Given the description of an element on the screen output the (x, y) to click on. 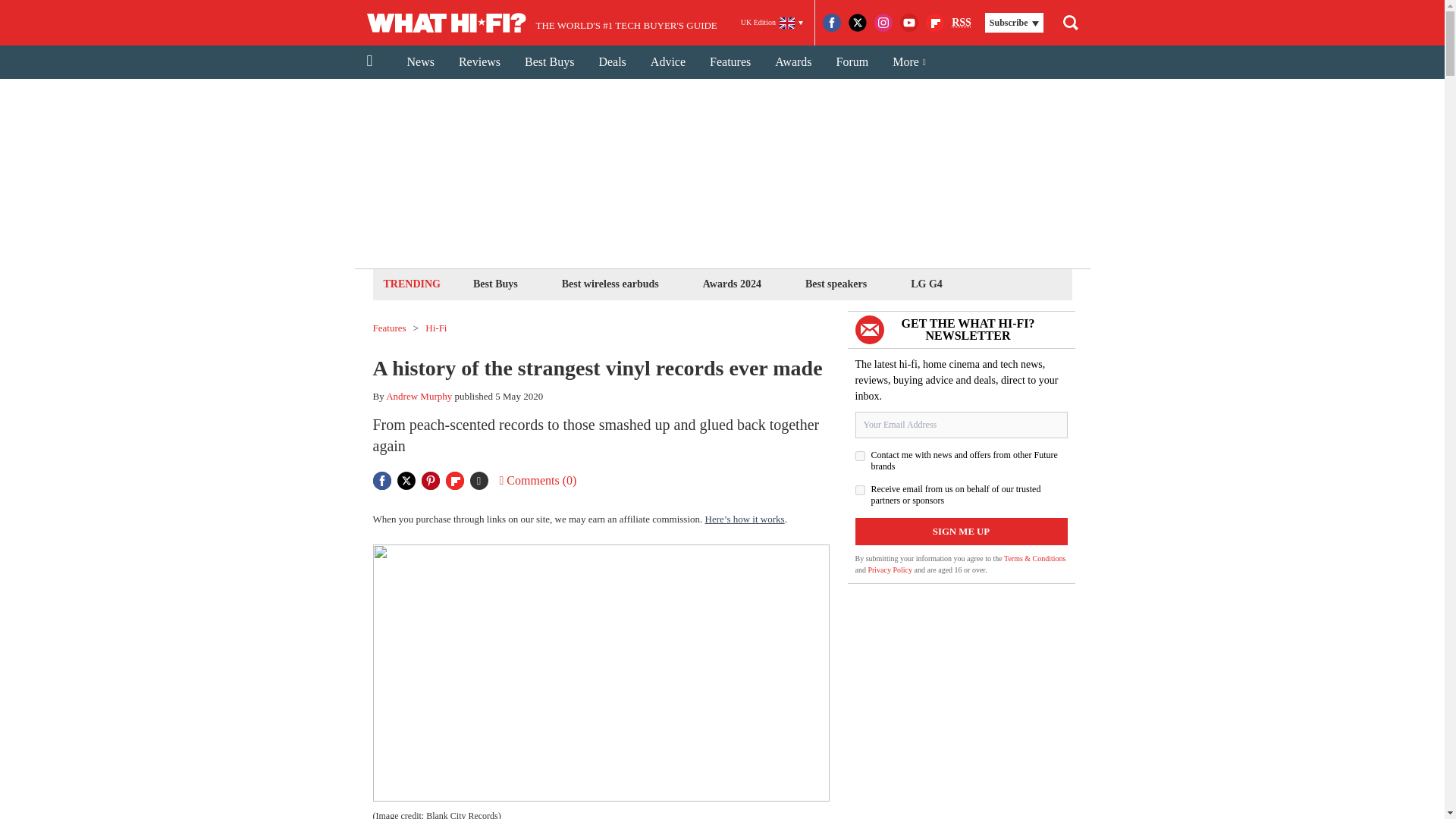
Andrew Murphy (418, 396)
News (419, 61)
on (860, 490)
Advice (668, 61)
Deals (611, 61)
LG G4 (926, 283)
RSS (961, 22)
Really Simple Syndication (961, 21)
on (860, 456)
UK Edition (771, 22)
